Given the description of an element on the screen output the (x, y) to click on. 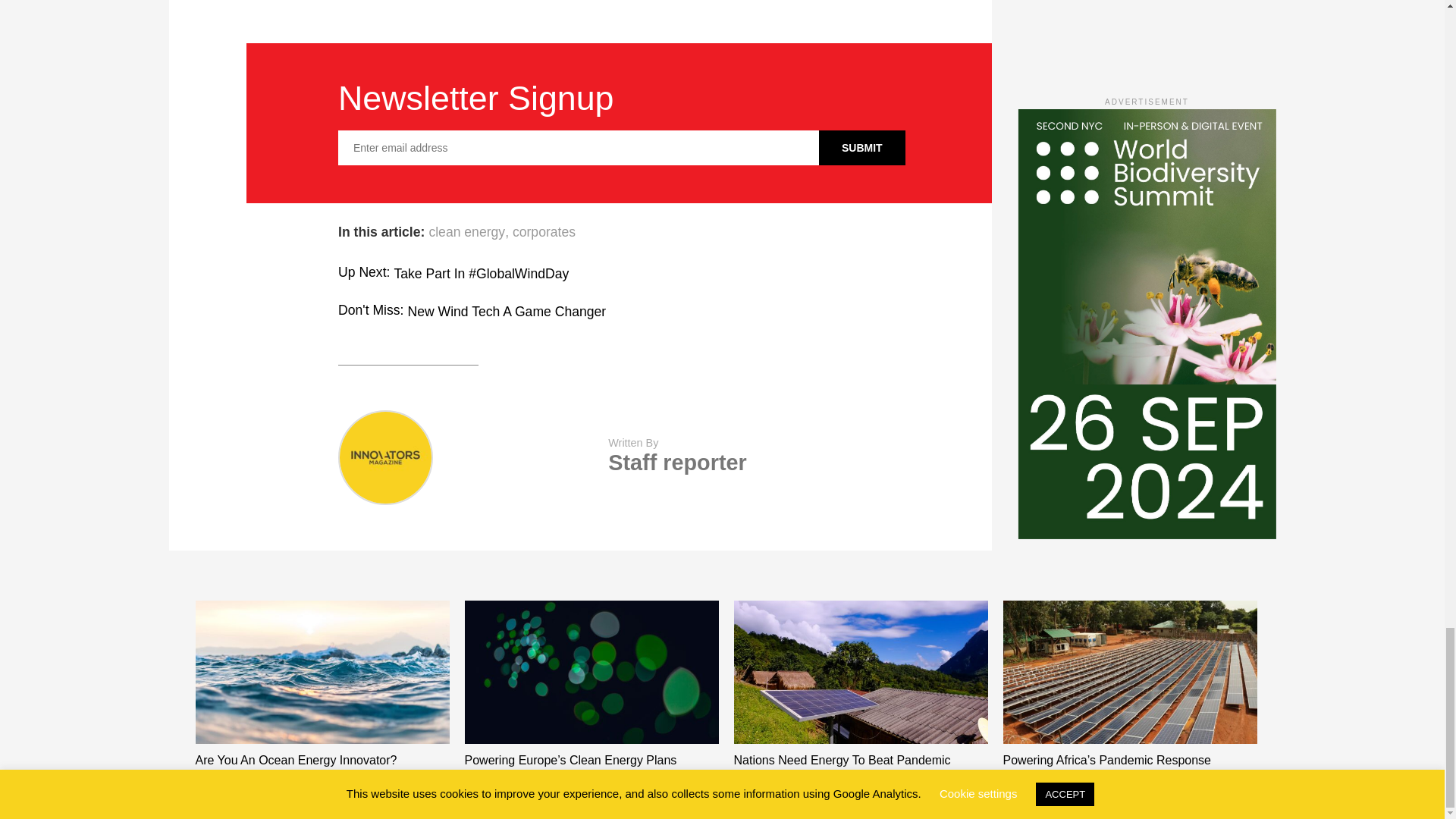
Posts by Staff reporter (676, 462)
Submit (861, 147)
